Given the description of an element on the screen output the (x, y) to click on. 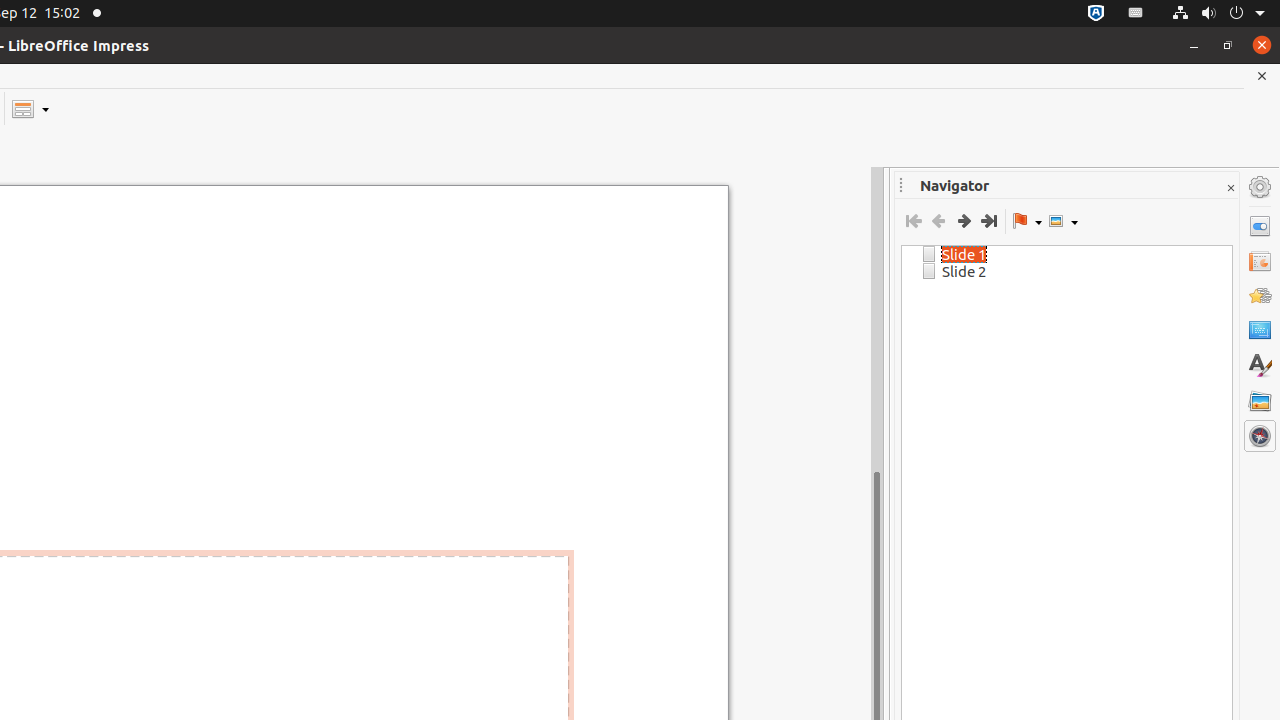
Master Slides Element type: radio-button (1260, 331)
Drag Mode Element type: push-button (1027, 221)
:1.21/StatusNotifierItem Element type: menu (1136, 13)
Last Slide Element type: push-button (988, 221)
